Given the description of an element on the screen output the (x, y) to click on. 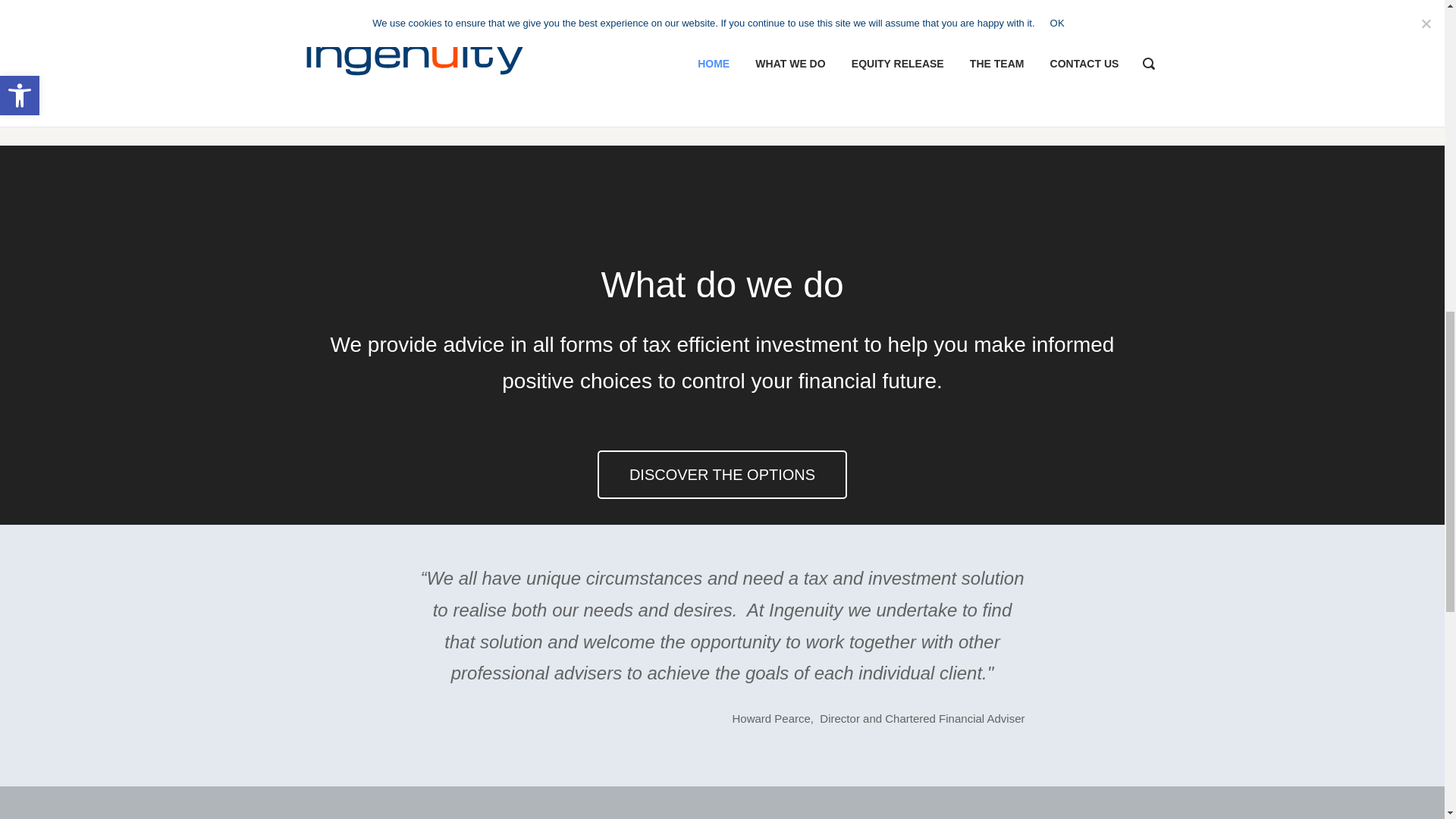
DISCOVER THE OPTIONS (721, 474)
